Given the description of an element on the screen output the (x, y) to click on. 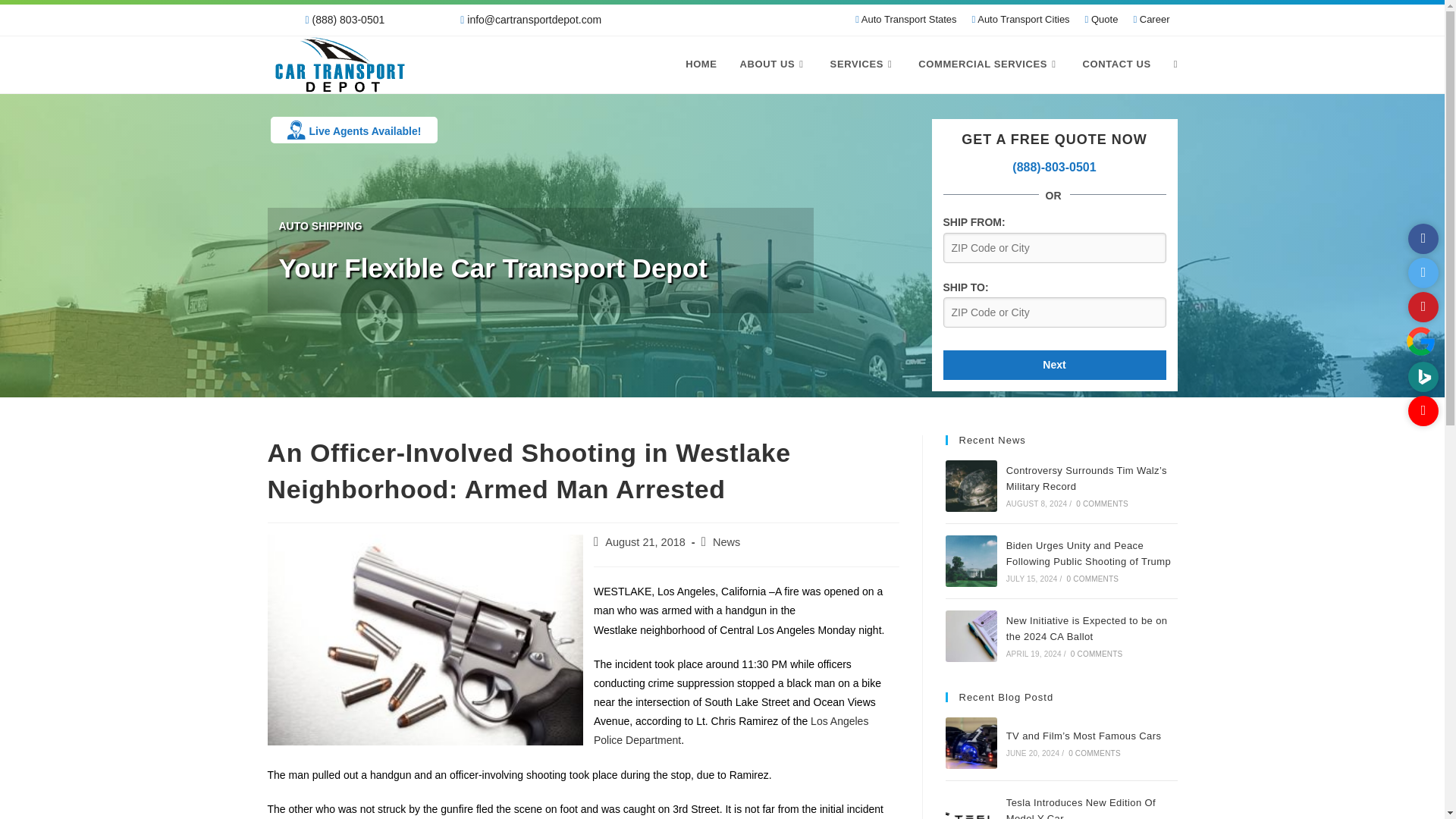
News (726, 541)
Auto Transport Cities (1020, 18)
ABOUT US (773, 64)
Auto Transport States (905, 18)
HOME (701, 64)
Next (1054, 365)
Career (1150, 18)
COMMERCIAL SERVICES (988, 64)
Enter a location (1054, 247)
Quote (1101, 18)
